Given the description of an element on the screen output the (x, y) to click on. 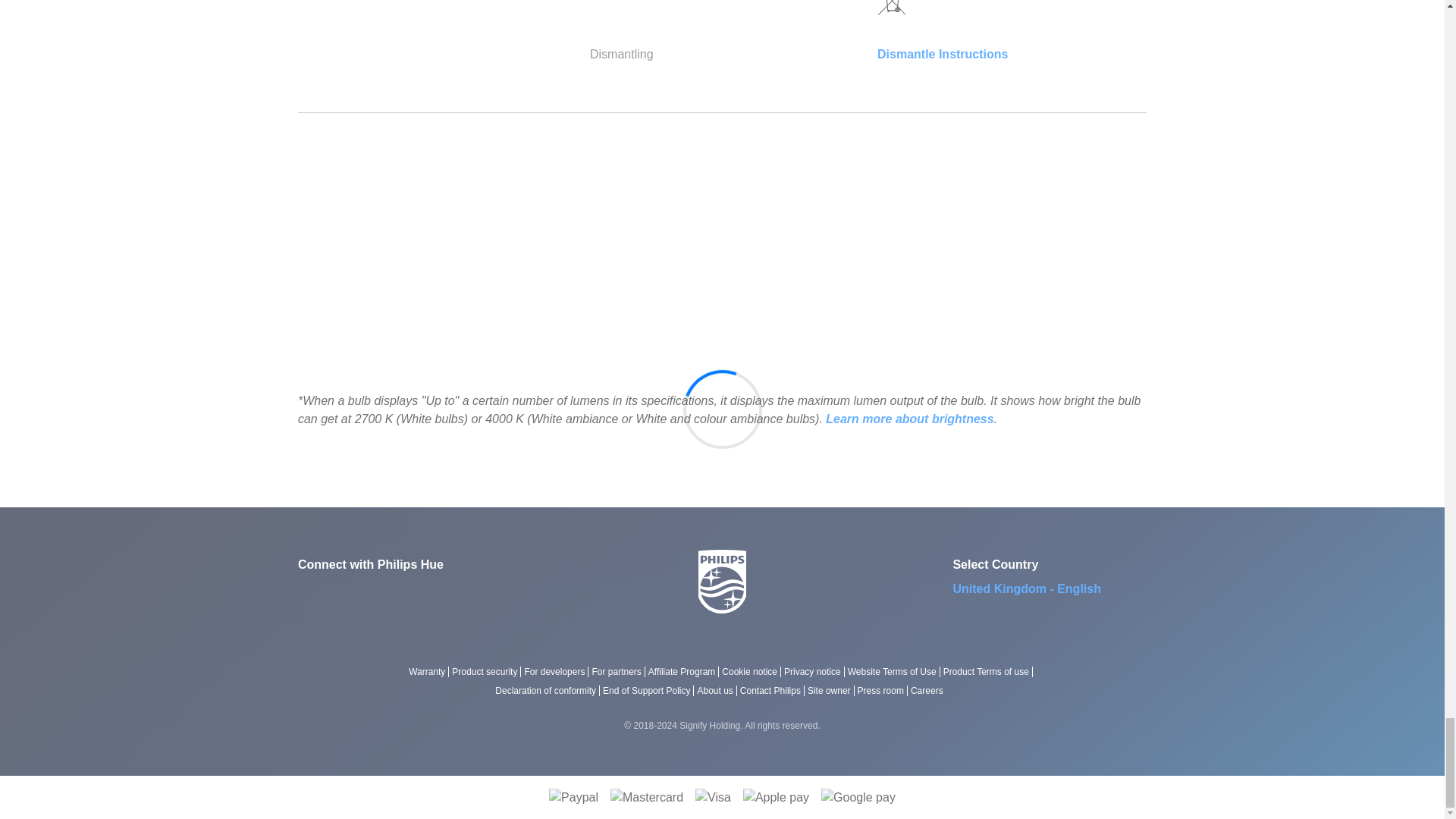
Cookie notice (753, 671)
Affiliate Program (684, 671)
Product Terms of use (989, 671)
For developers (557, 671)
Facebook (309, 593)
Product security (487, 671)
Select Country (1035, 588)
Privacy notice (815, 671)
Warranty (430, 671)
Pinterest (382, 593)
Website Terms of Use (895, 671)
For partners (619, 671)
Twitter (346, 593)
Instagram (418, 593)
Declaration of conformity (548, 690)
